Given the description of an element on the screen output the (x, y) to click on. 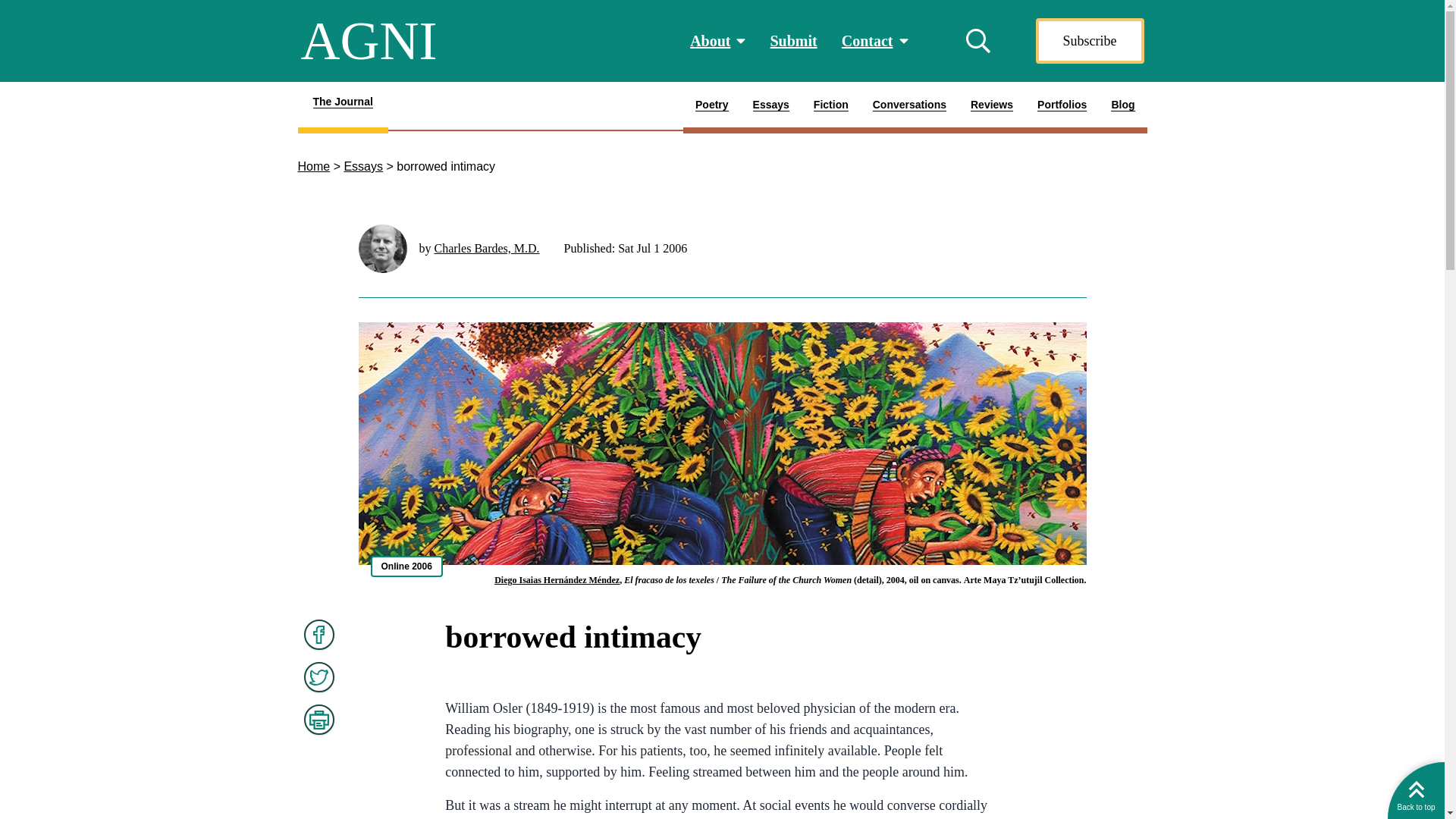
Online 2006 (405, 566)
The Journal (914, 107)
Fiction (342, 107)
AGNI (831, 107)
Essays (367, 40)
Portfolios (362, 165)
Conversations (1062, 107)
Home (909, 107)
Subscribe (313, 165)
